Given the description of an element on the screen output the (x, y) to click on. 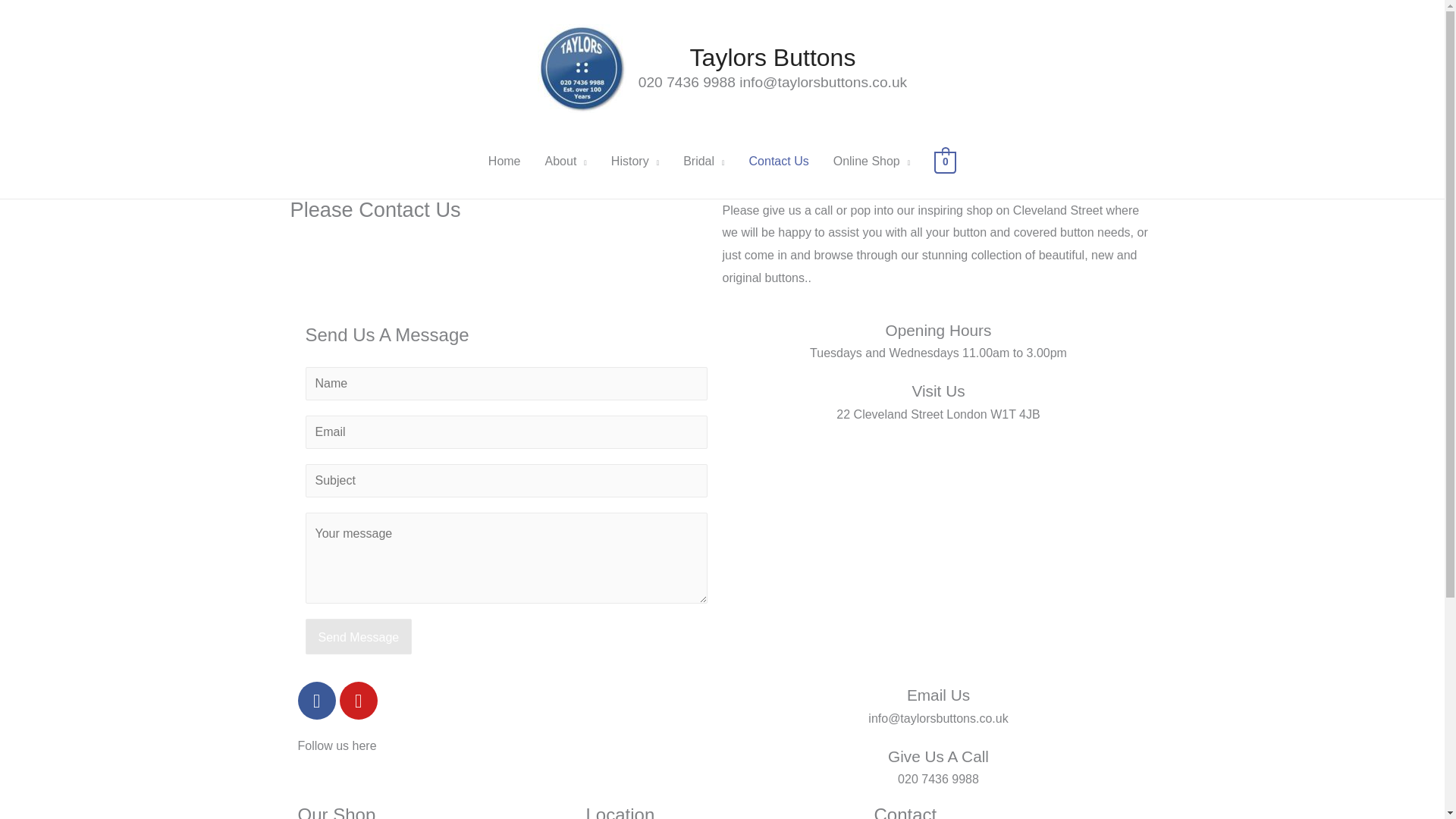
Send Message (358, 637)
Taylors Buttons (773, 57)
Home (504, 161)
Contact Us (778, 161)
View your shopping basket (945, 162)
0 (945, 162)
About (565, 161)
Bridal (703, 161)
History (634, 161)
Online Shop (872, 161)
